Given the description of an element on the screen output the (x, y) to click on. 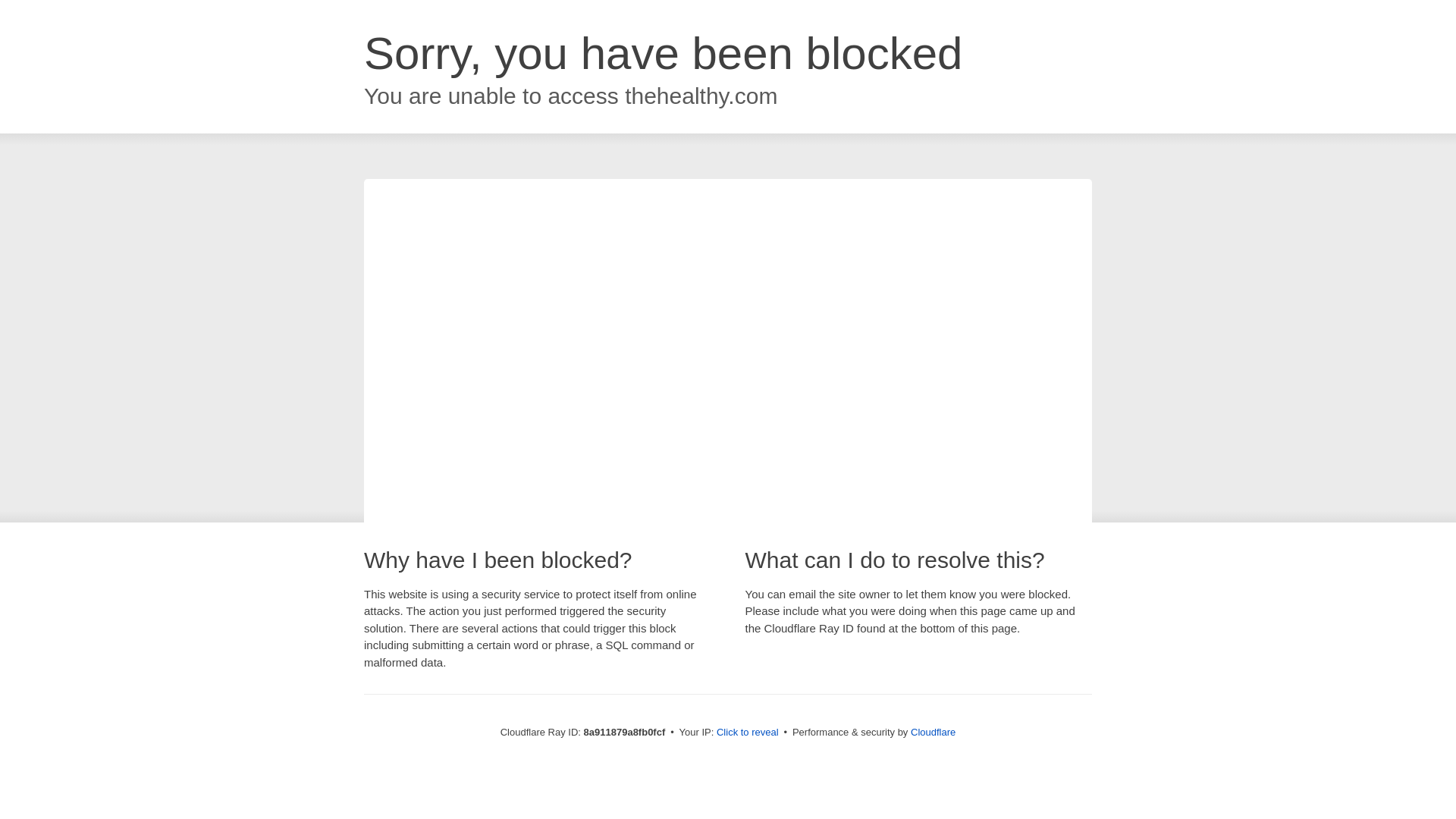
Click to reveal (747, 732)
Cloudflare (933, 731)
